Given the description of an element on the screen output the (x, y) to click on. 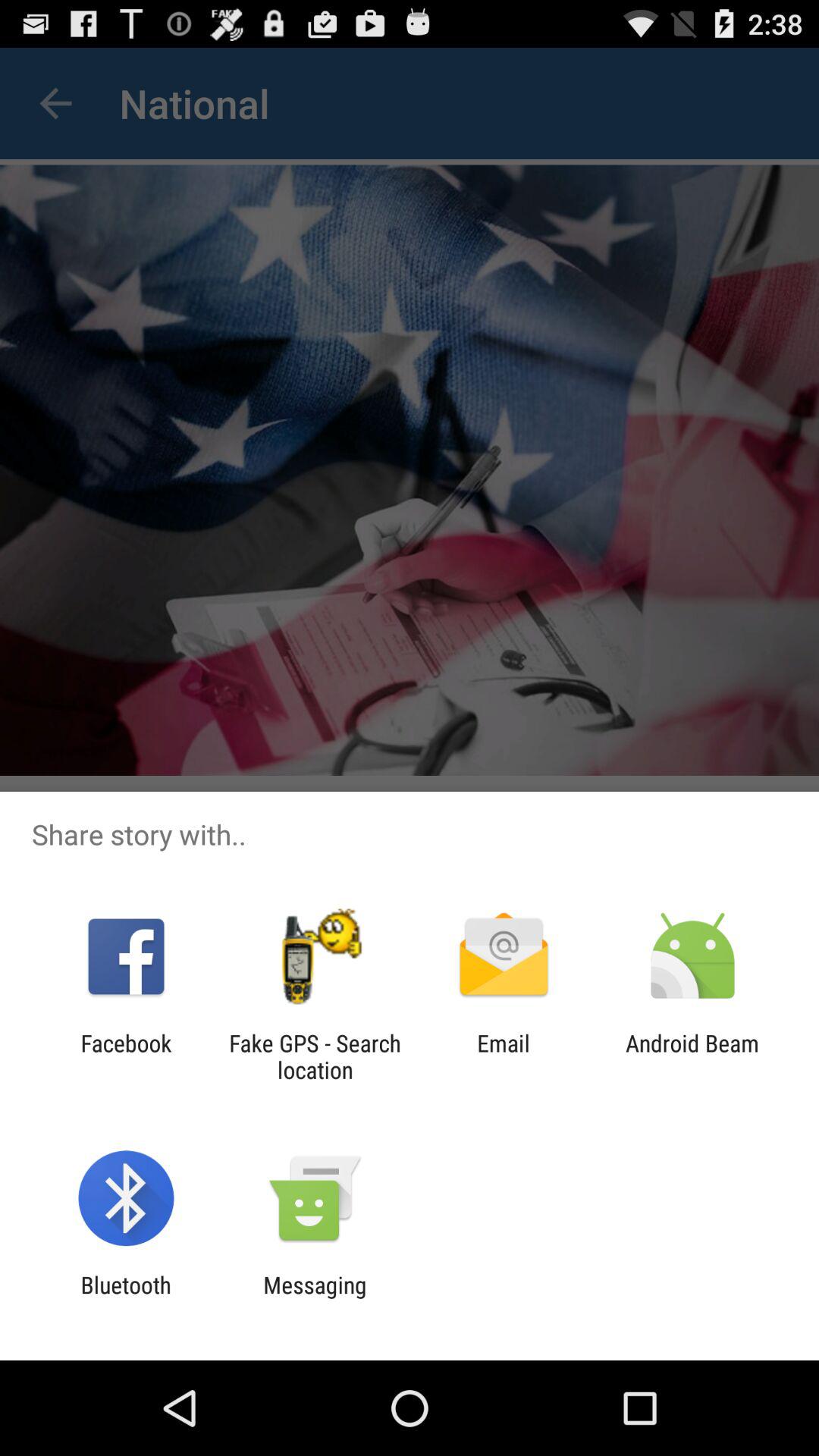
tap the item to the left of the email (314, 1056)
